Given the description of an element on the screen output the (x, y) to click on. 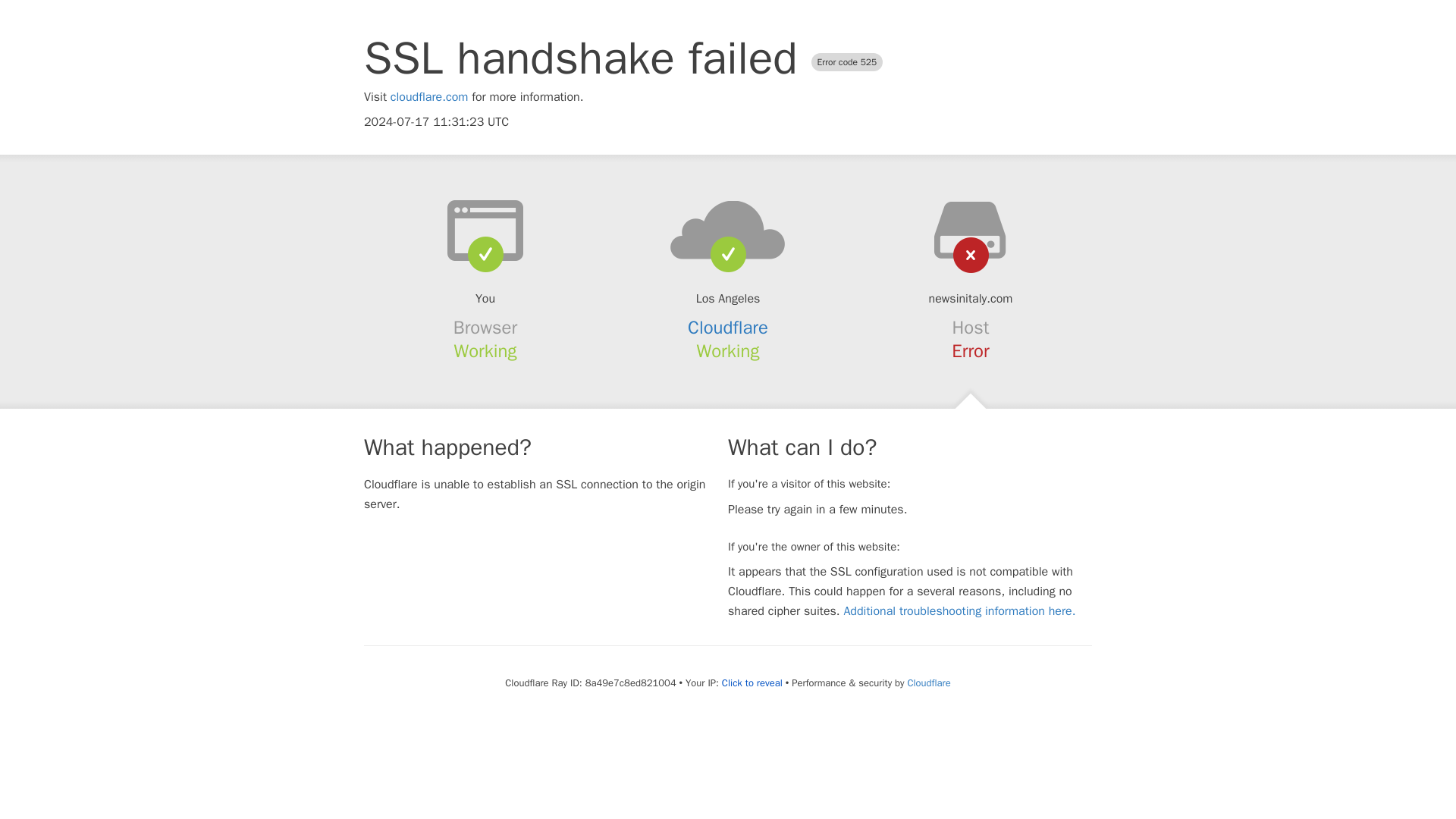
Cloudflare (727, 327)
cloudflare.com (429, 96)
Click to reveal (752, 683)
Additional troubleshooting information here. (959, 611)
Cloudflare (928, 682)
